Given the description of an element on the screen output the (x, y) to click on. 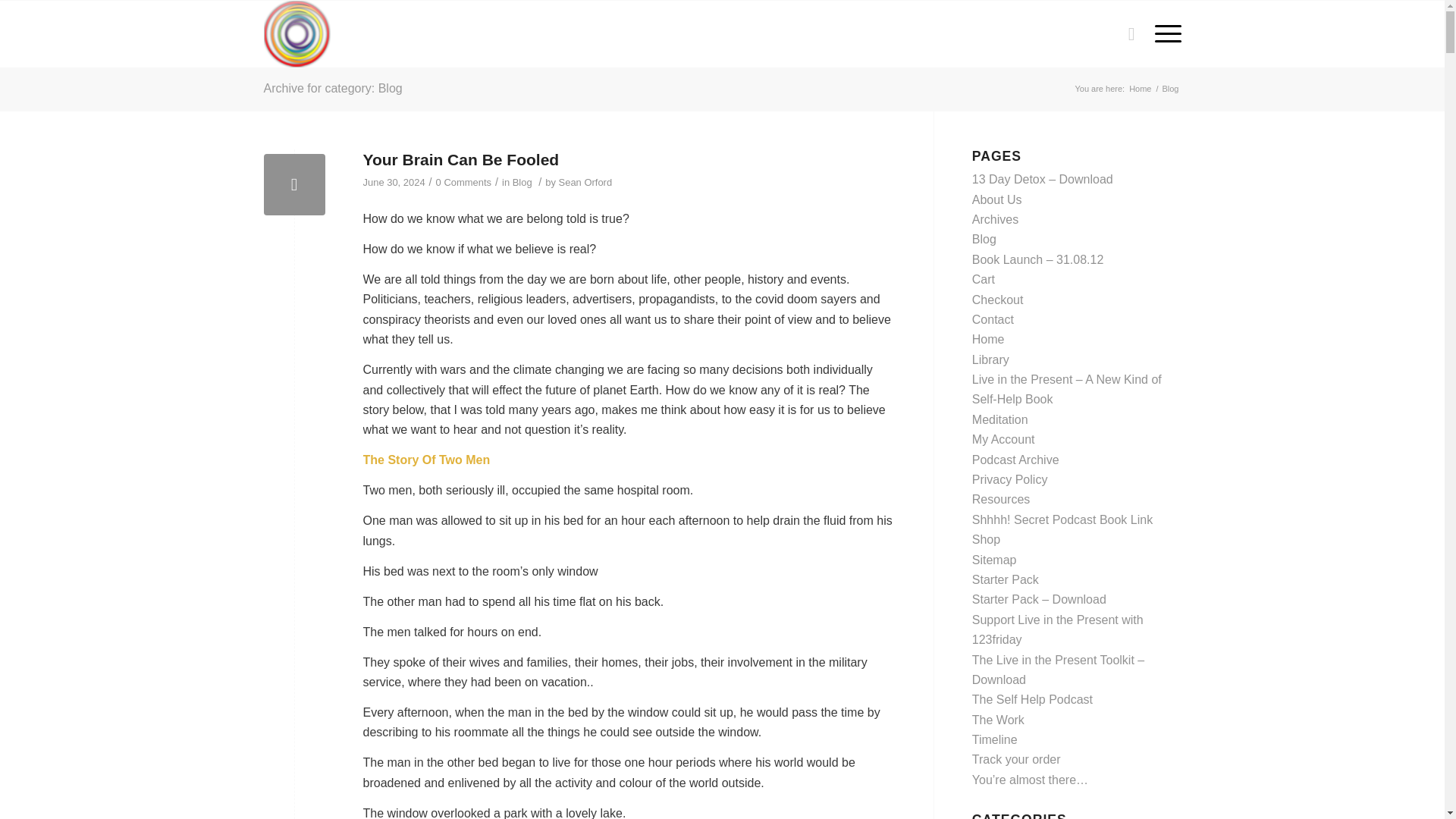
Home (1139, 89)
Your Brain Can Be Fooled (293, 184)
Permanent Link: Archive for category: Blog (333, 88)
Archive for category: Blog (333, 88)
0 Comments (463, 182)
Blog (522, 182)
Your Brain Can Be Fooled (460, 159)
Posts by Sean Orford (585, 182)
Live in the Present (1139, 89)
Sean Orford (585, 182)
Permanent Link: Your Brain Can Be Fooled (460, 159)
